Given the description of an element on the screen output the (x, y) to click on. 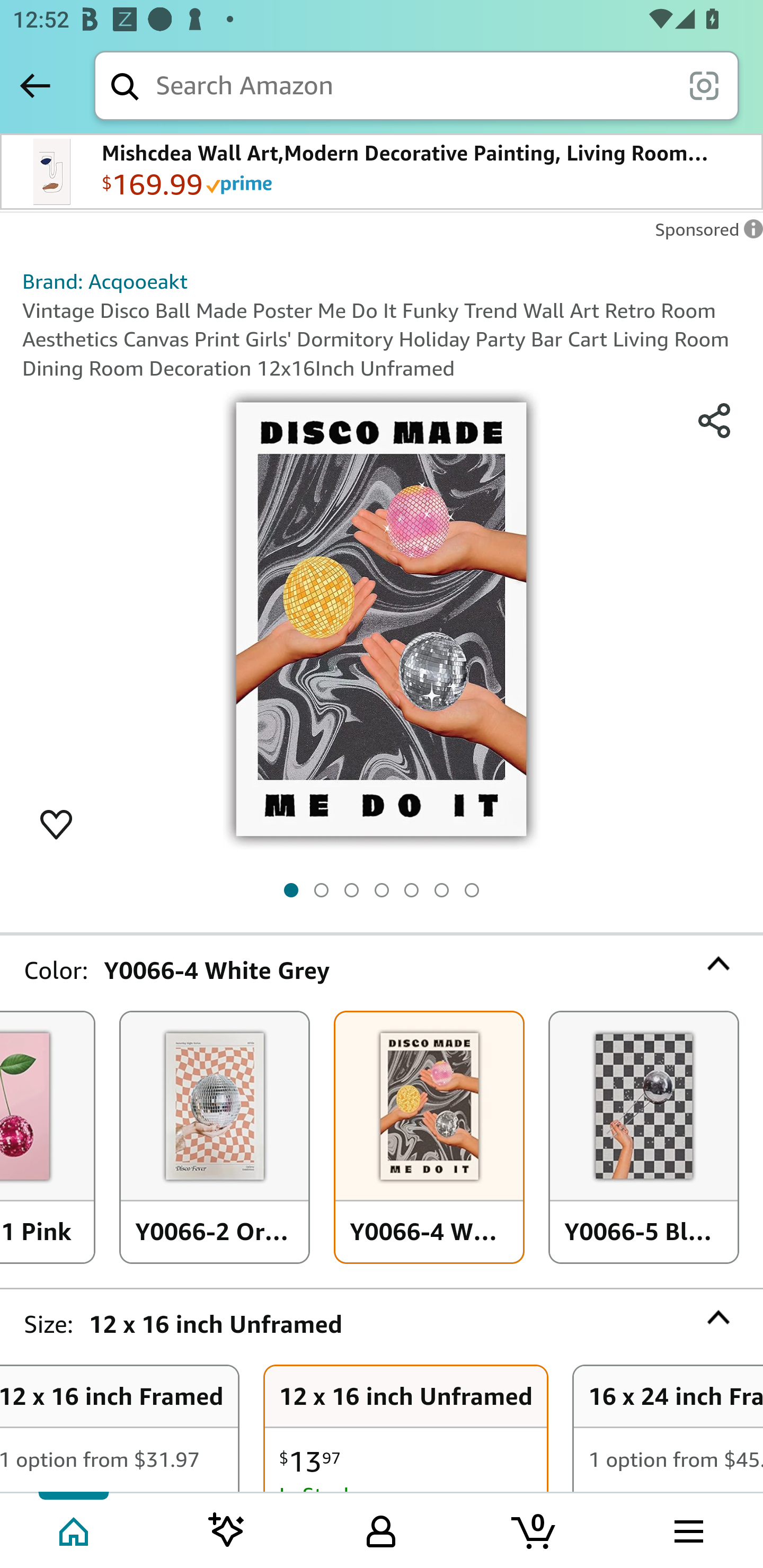
Back (35, 85)
Search Search Search Amazon scan it (416, 85)
scan it (704, 85)
Leave feedback on Sponsored ad Sponsored  (703, 234)
Brand: Acqooeakt (105, 281)
Heart to save an item to your default list (56, 822)
Y0066-2 Orange (214, 1137)
Y0066-4 White Grey (428, 1137)
Y0066-5 Black (643, 1137)
12 x 16 inch Framed 1 option from $31.97 (119, 1428)
12 x 16 inch Unframed $13.97 In Stock (405, 1428)
16 x 24 inch Framed 1 option from $45.97 (668, 1428)
Home Tab 1 of 5 (75, 1529)
Inspire feed Tab 2 of 5 (227, 1529)
Your Amazon.com Tab 3 of 5 (380, 1529)
Cart 0 item Tab 4 of 5 0 (534, 1529)
Browse menu Tab 5 of 5 (687, 1529)
